Given the description of an element on the screen output the (x, y) to click on. 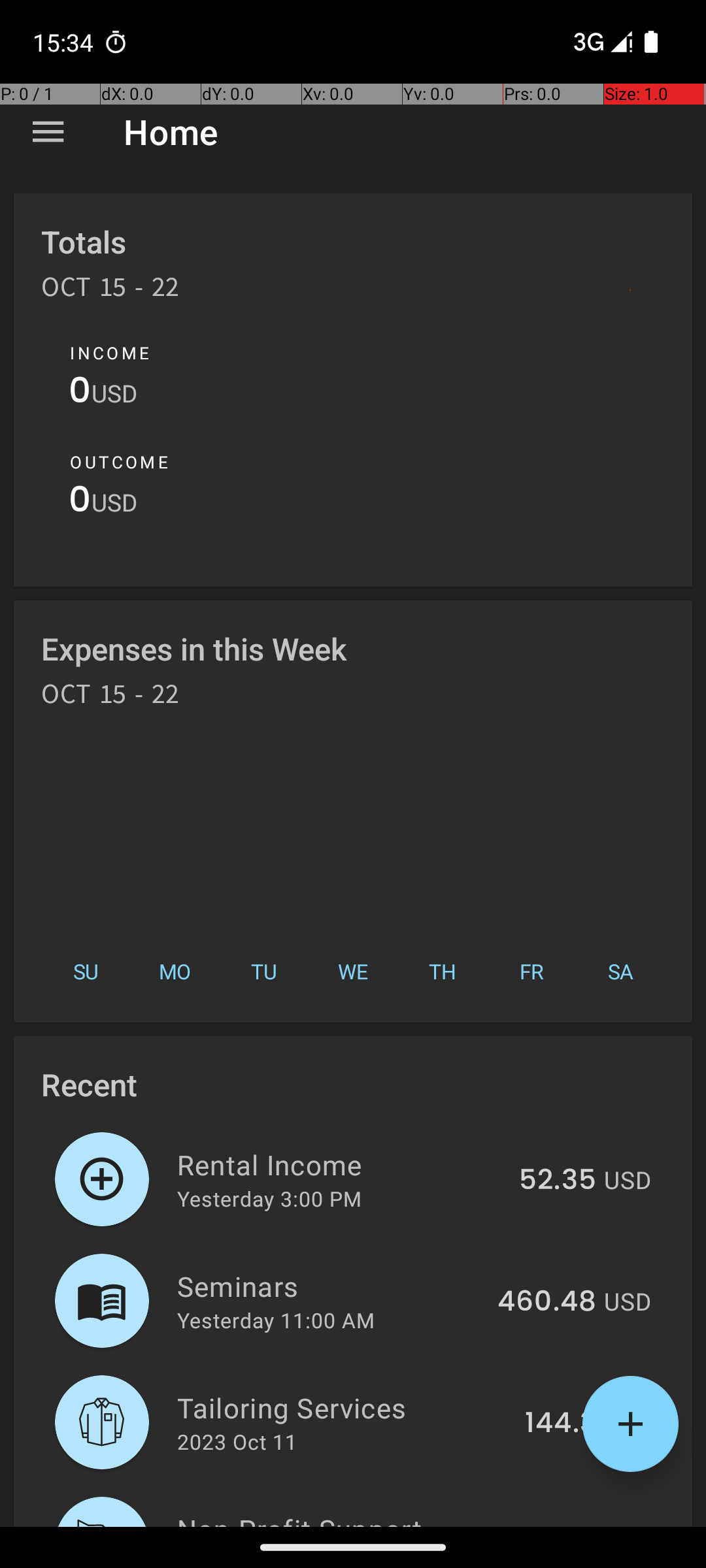
Yesterday 3:00 PM Element type: android.widget.TextView (269, 1198)
52.35 Element type: android.widget.TextView (557, 1180)
Seminars Element type: android.widget.TextView (329, 1285)
Yesterday 11:00 AM Element type: android.widget.TextView (275, 1320)
460.48 Element type: android.widget.TextView (546, 1301)
Tailoring Services Element type: android.widget.TextView (343, 1407)
144.3 Element type: android.widget.TextView (560, 1423)
Non-Profit Support Element type: android.widget.TextView (335, 1518)
371.65 Element type: android.widget.TextView (551, 1524)
